Given the description of an element on the screen output the (x, y) to click on. 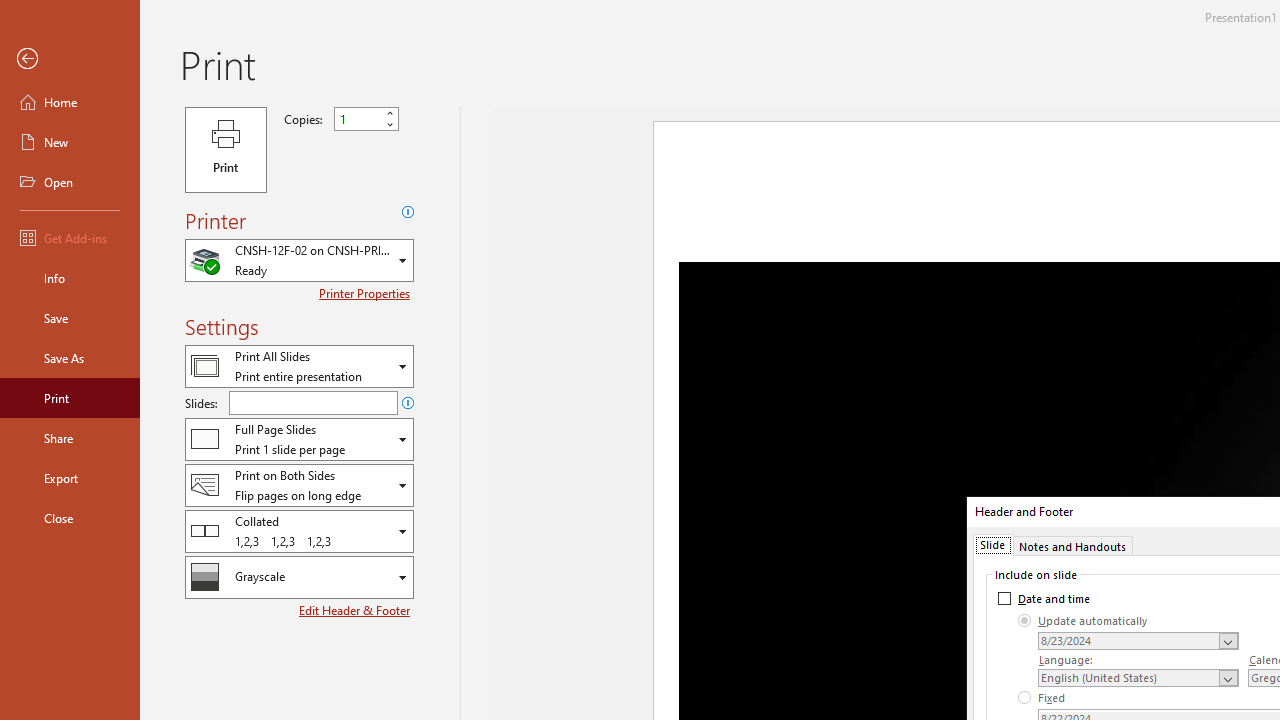
Print (226, 149)
Two-Sided Printing (299, 484)
Format Date and Time (1138, 641)
Which Printer (299, 260)
Update automatically (1083, 620)
Edit Header & Footer (356, 610)
Language (1138, 677)
Color/Grayscale (299, 577)
Fixed (1042, 697)
Print What (299, 366)
Copies (358, 119)
